Given the description of an element on the screen output the (x, y) to click on. 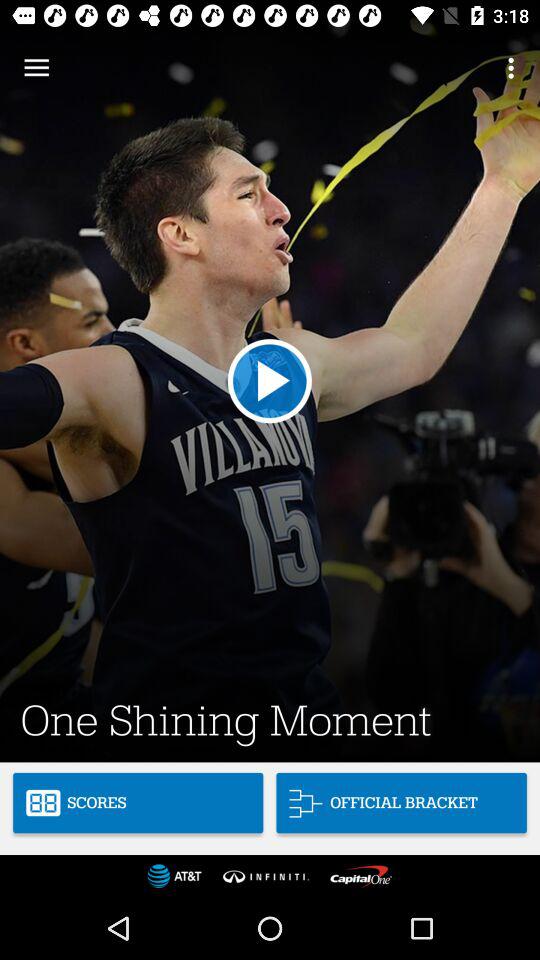
open scores (138, 802)
